Given the description of an element on the screen output the (x, y) to click on. 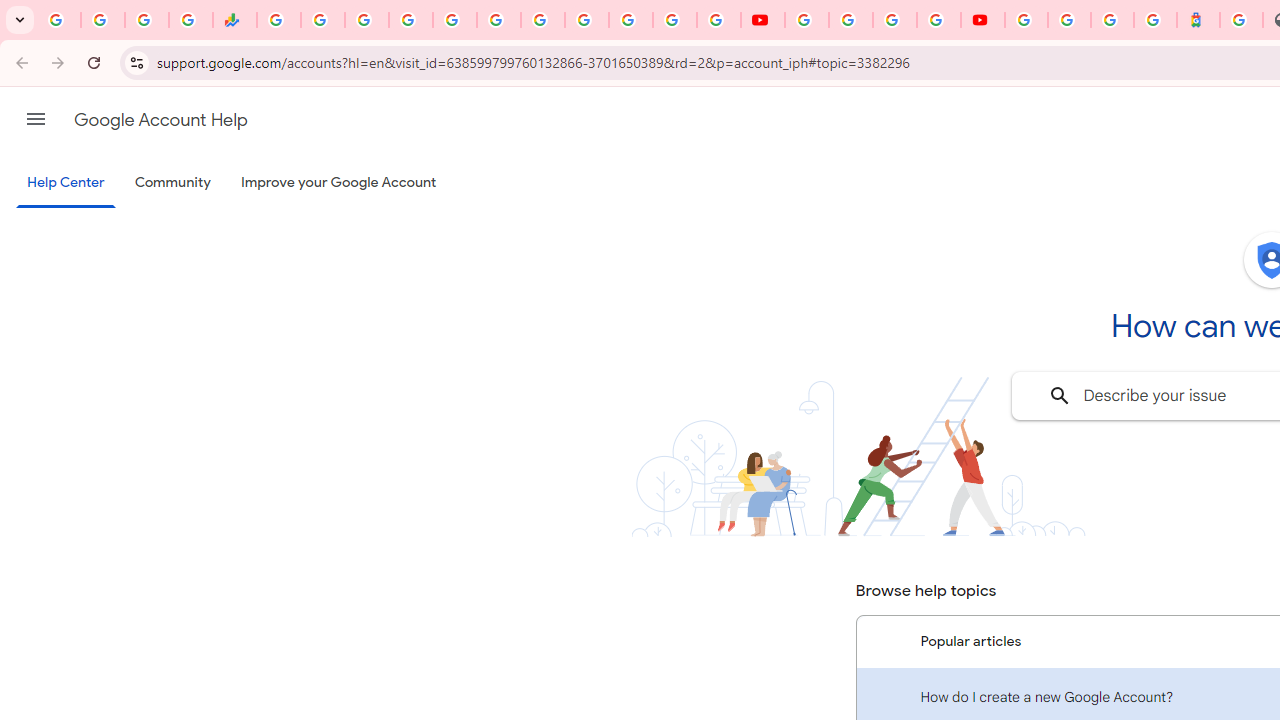
Sign in - Google Accounts (1026, 20)
Sign in - Google Accounts (410, 20)
Privacy Checkup (719, 20)
Google Account Help (160, 119)
Atour Hotel - Google hotels (1197, 20)
YouTube (586, 20)
